Given the description of an element on the screen output the (x, y) to click on. 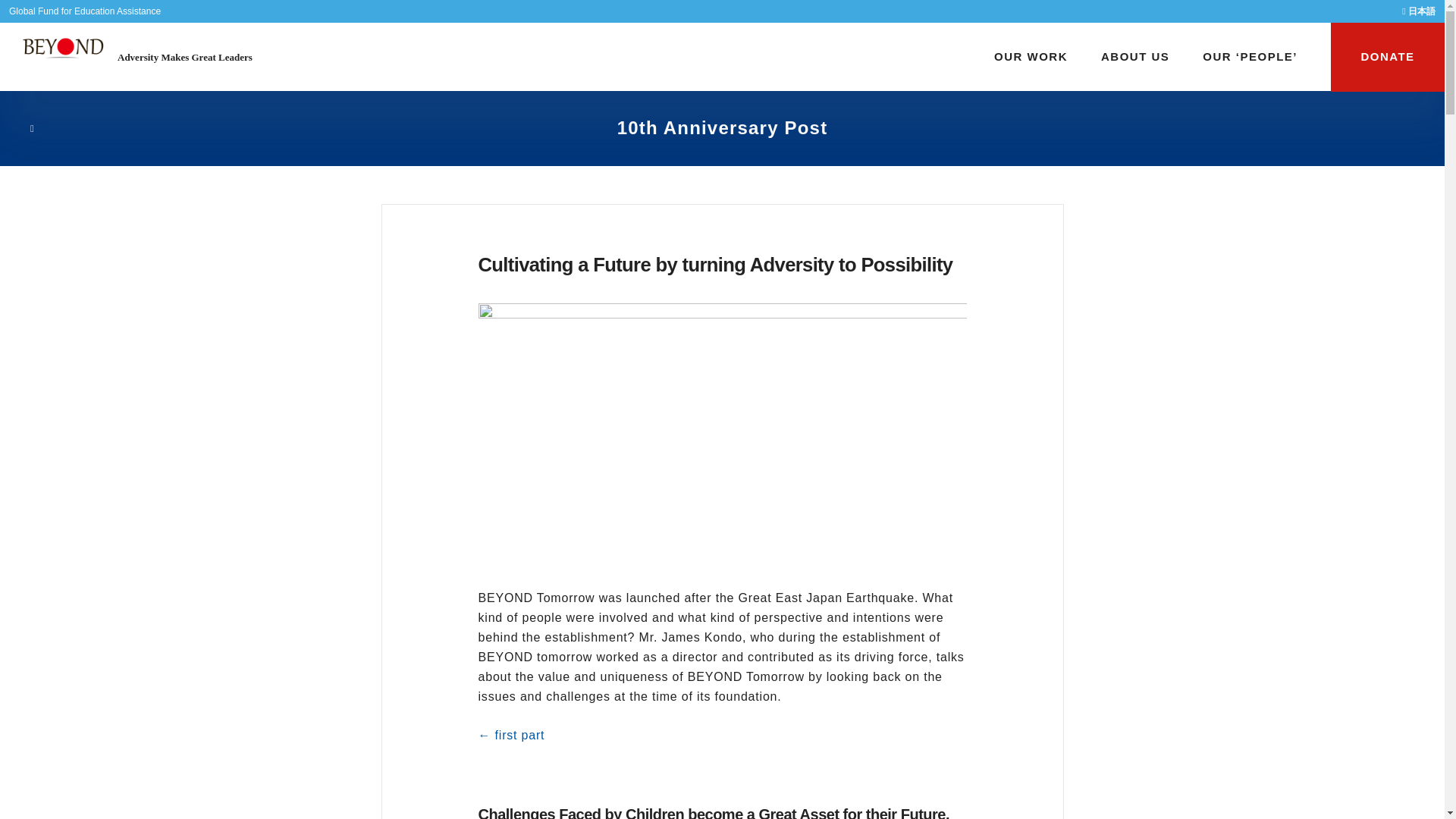
ABOUT US (1134, 56)
OUR WORK (1030, 56)
